Given the description of an element on the screen output the (x, y) to click on. 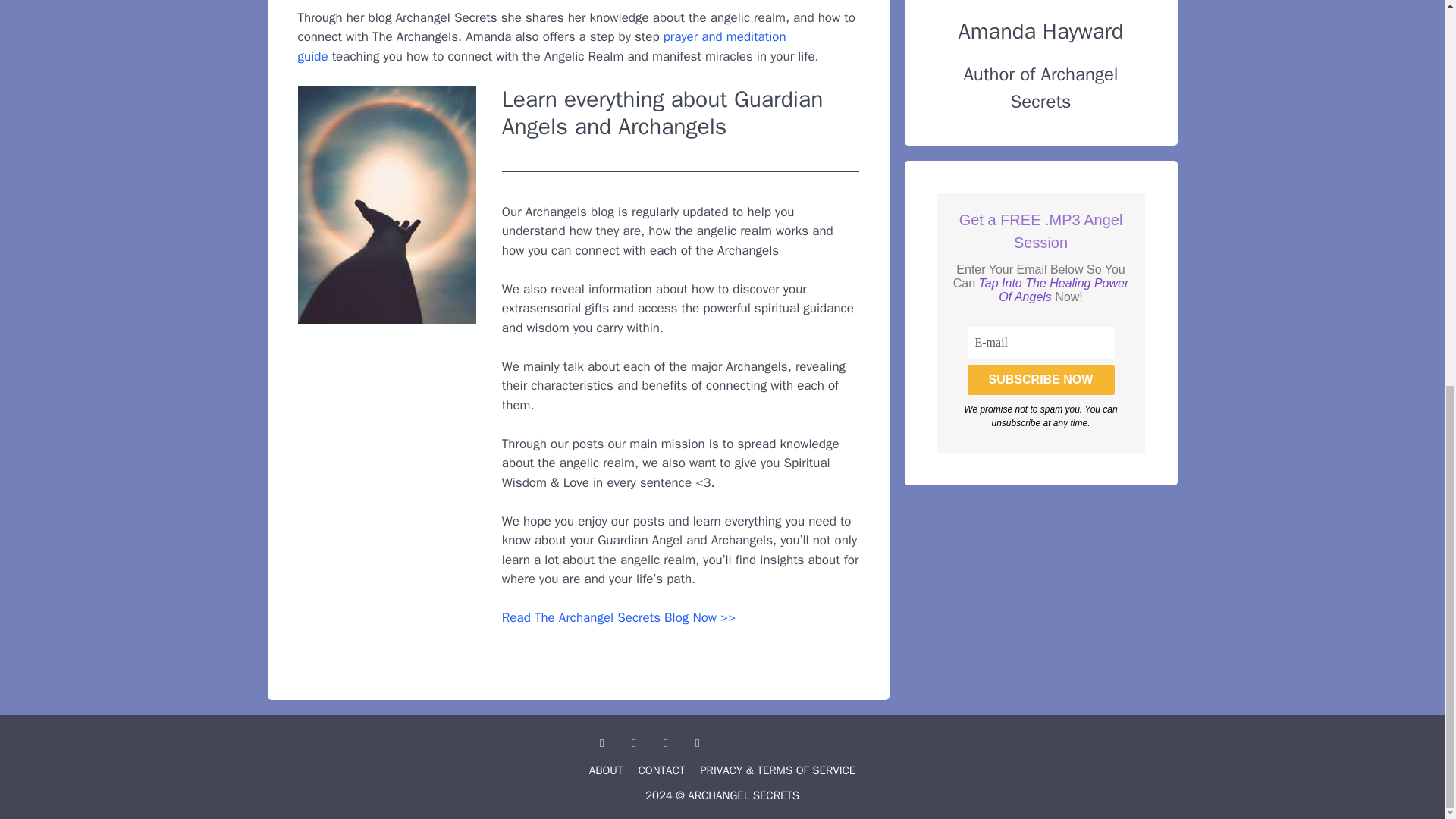
Twitter (697, 742)
Pinterest (665, 742)
ABOUT (606, 770)
CONTACT (660, 770)
Subscribe Now (1041, 379)
Subscribe Now (1041, 379)
Facebook (601, 742)
prayer and meditation guide (541, 46)
Tumblr (633, 742)
